Given the description of an element on the screen output the (x, y) to click on. 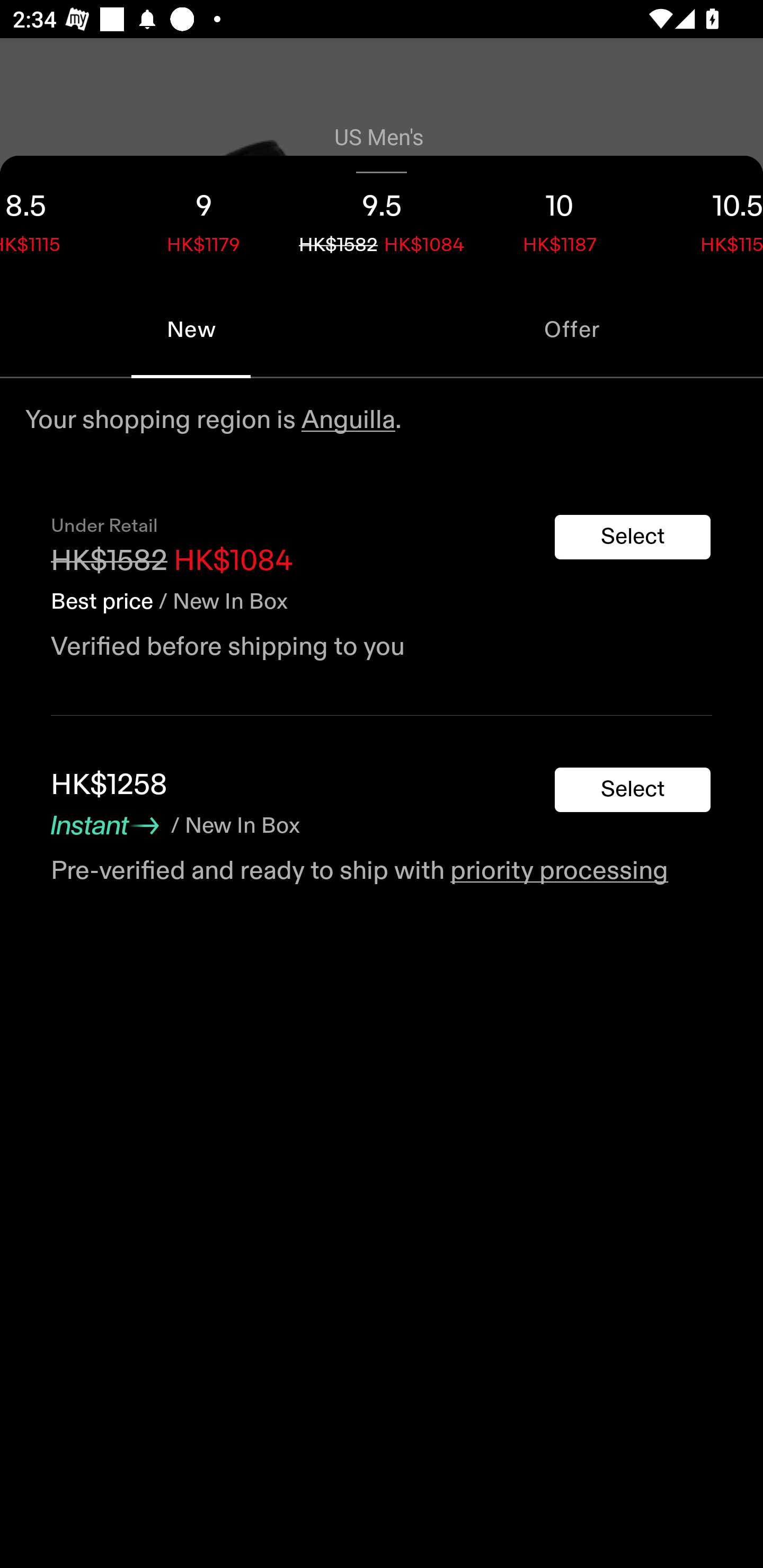
8.5 HK$1115 (57, 218)
9 HK$1179 (203, 218)
9.5 HK$1582 HK$1084 (381, 218)
10 HK$1187 (559, 218)
10.5 HK$1155 (705, 218)
Offer (572, 329)
Select (632, 536)
HK$1258 (109, 785)
Select (632, 789)
